Given the description of an element on the screen output the (x, y) to click on. 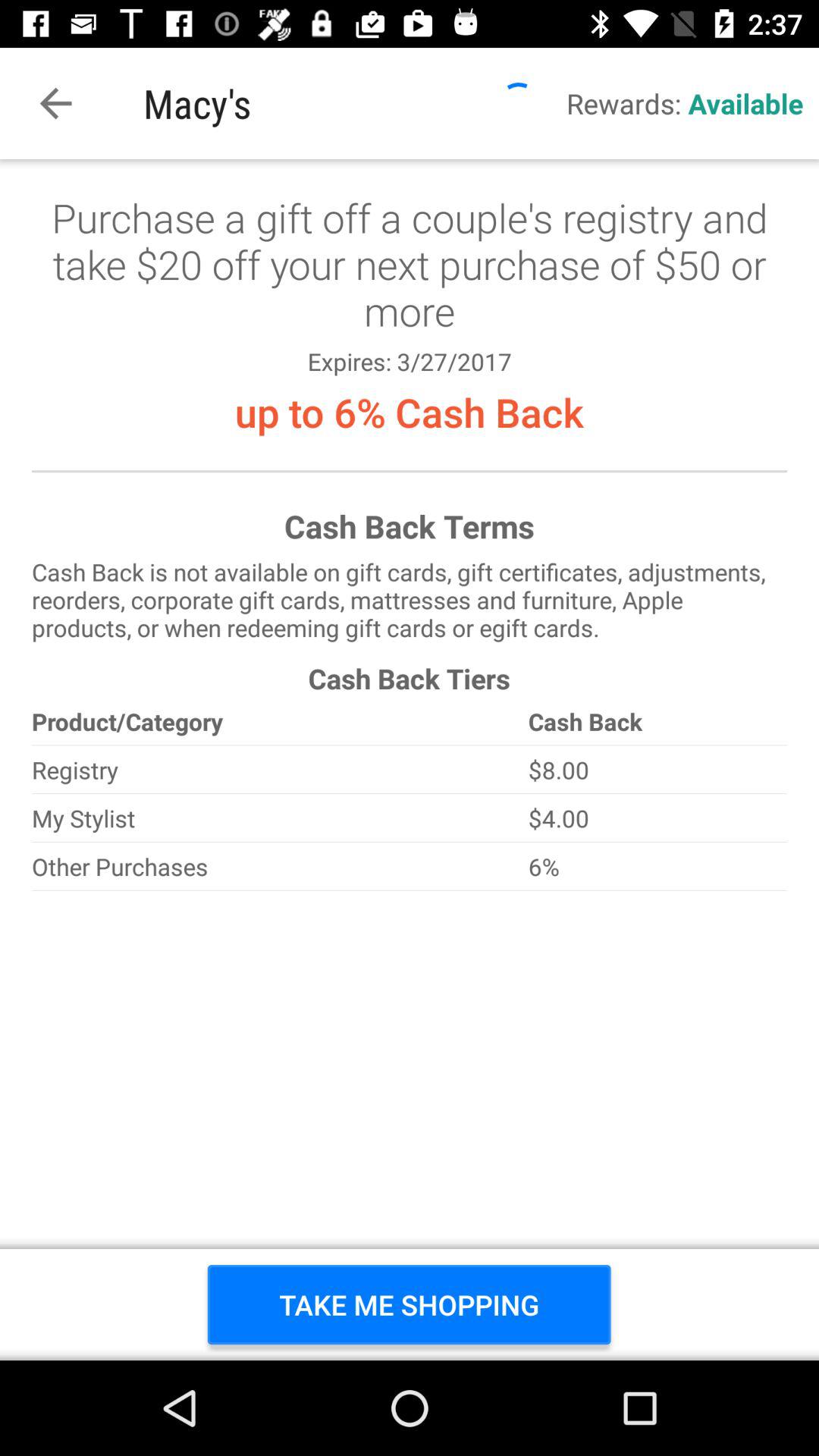
jump until the take me shopping icon (408, 1304)
